Given the description of an element on the screen output the (x, y) to click on. 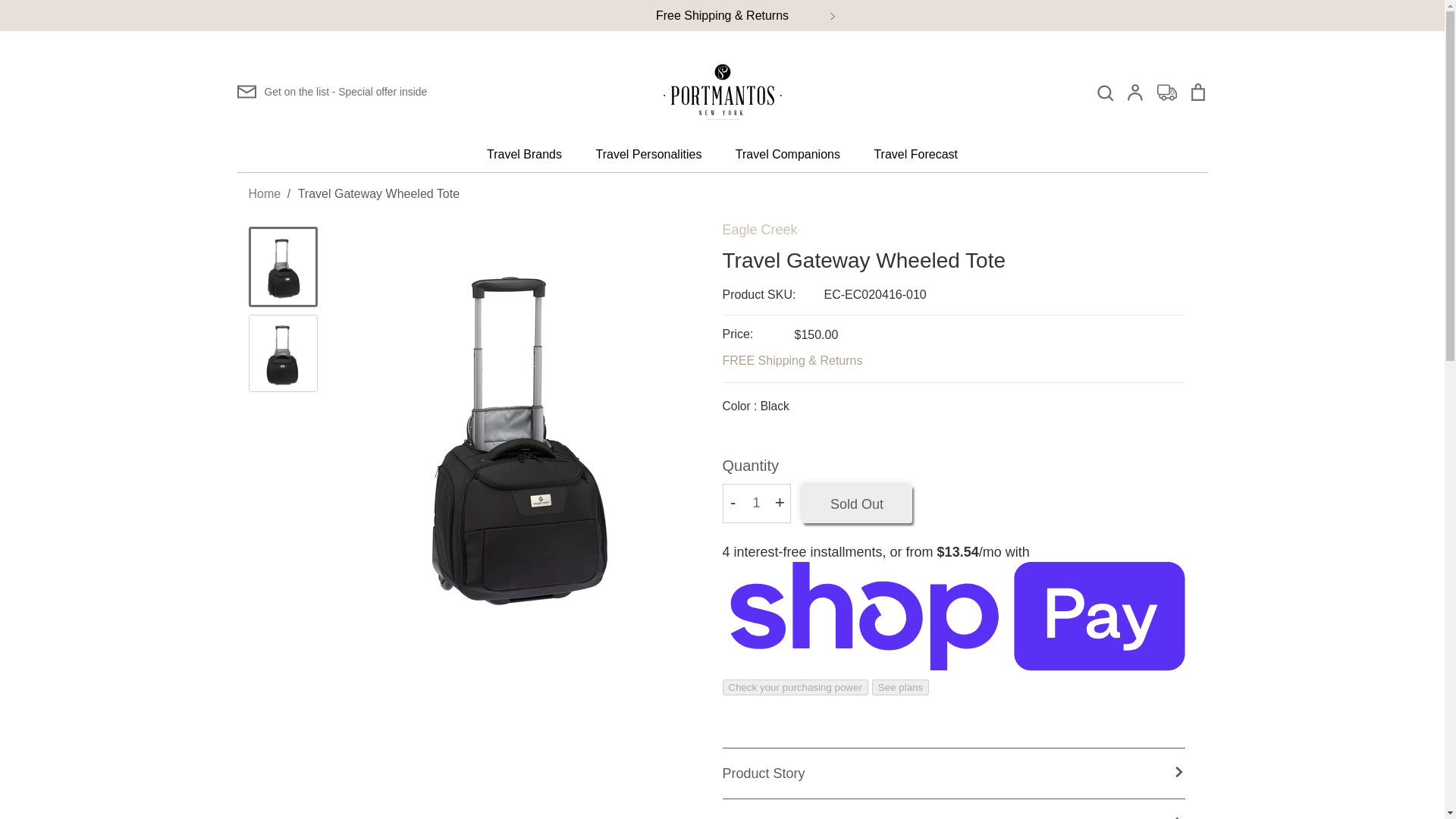
1 (757, 502)
Travel Brands (524, 154)
Get on the list - Special offer inside (330, 91)
Cart (1197, 91)
Search (1104, 91)
